Given the description of an element on the screen output the (x, y) to click on. 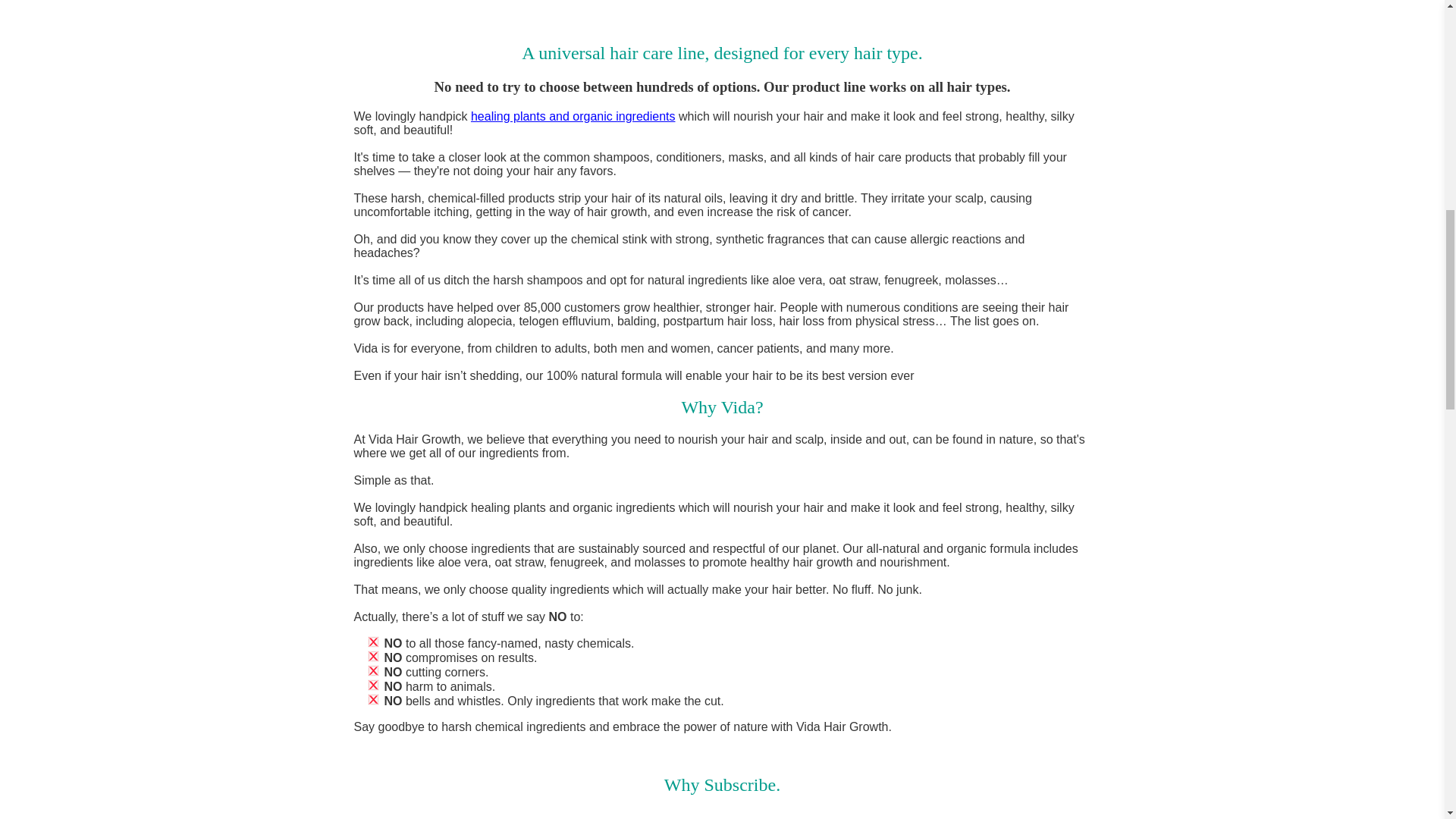
healing plants and organic ingredients (572, 115)
